Given the description of an element on the screen output the (x, y) to click on. 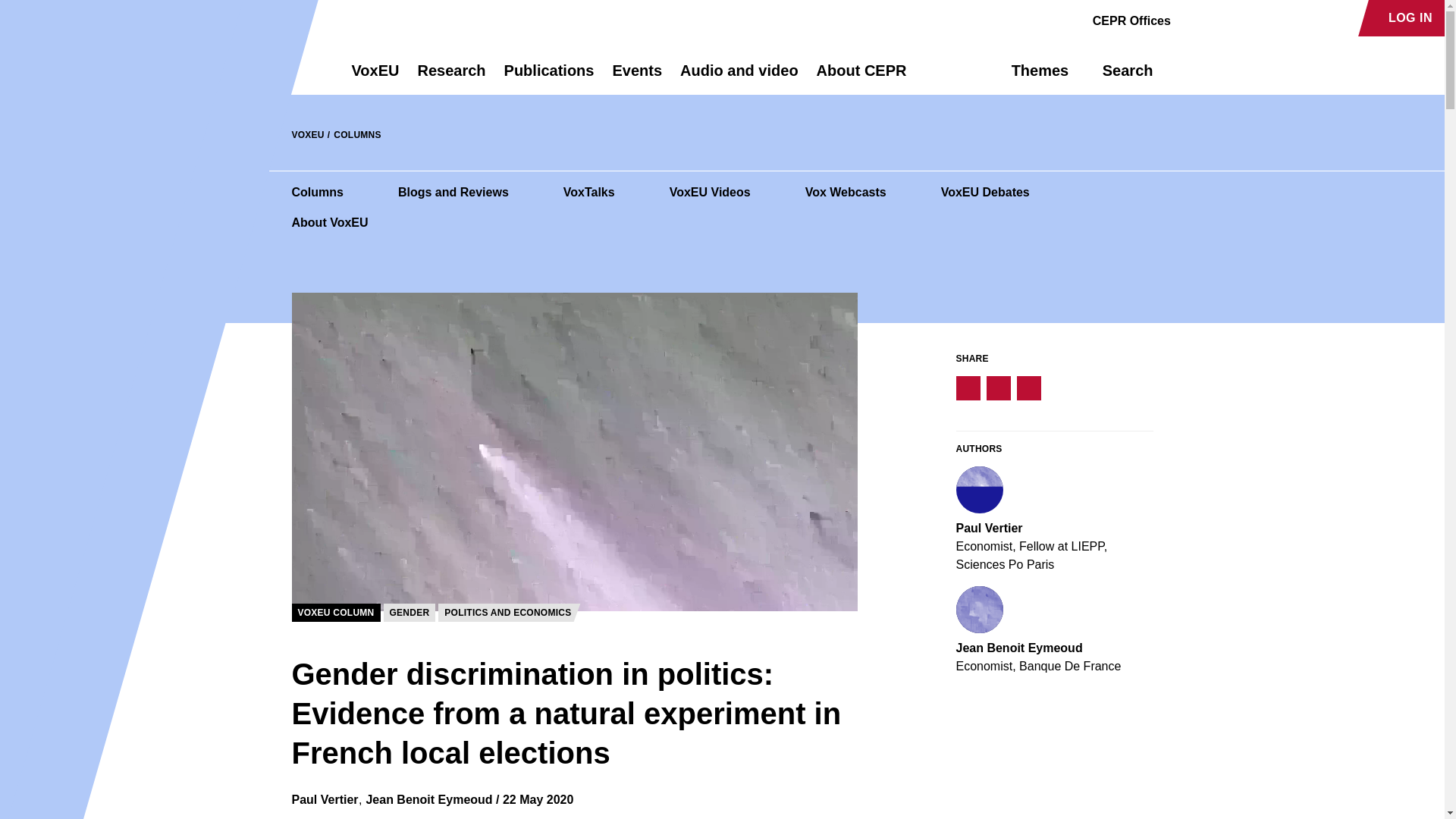
Research (450, 77)
Return to the homepage (293, 69)
Go to Linkedin profile (1243, 18)
Events (636, 77)
Audio and video (738, 77)
Go to Audioboom profile (1217, 17)
Publications (548, 77)
Go to Facebook profile (1190, 17)
VoxEU (375, 77)
